Given the description of an element on the screen output the (x, y) to click on. 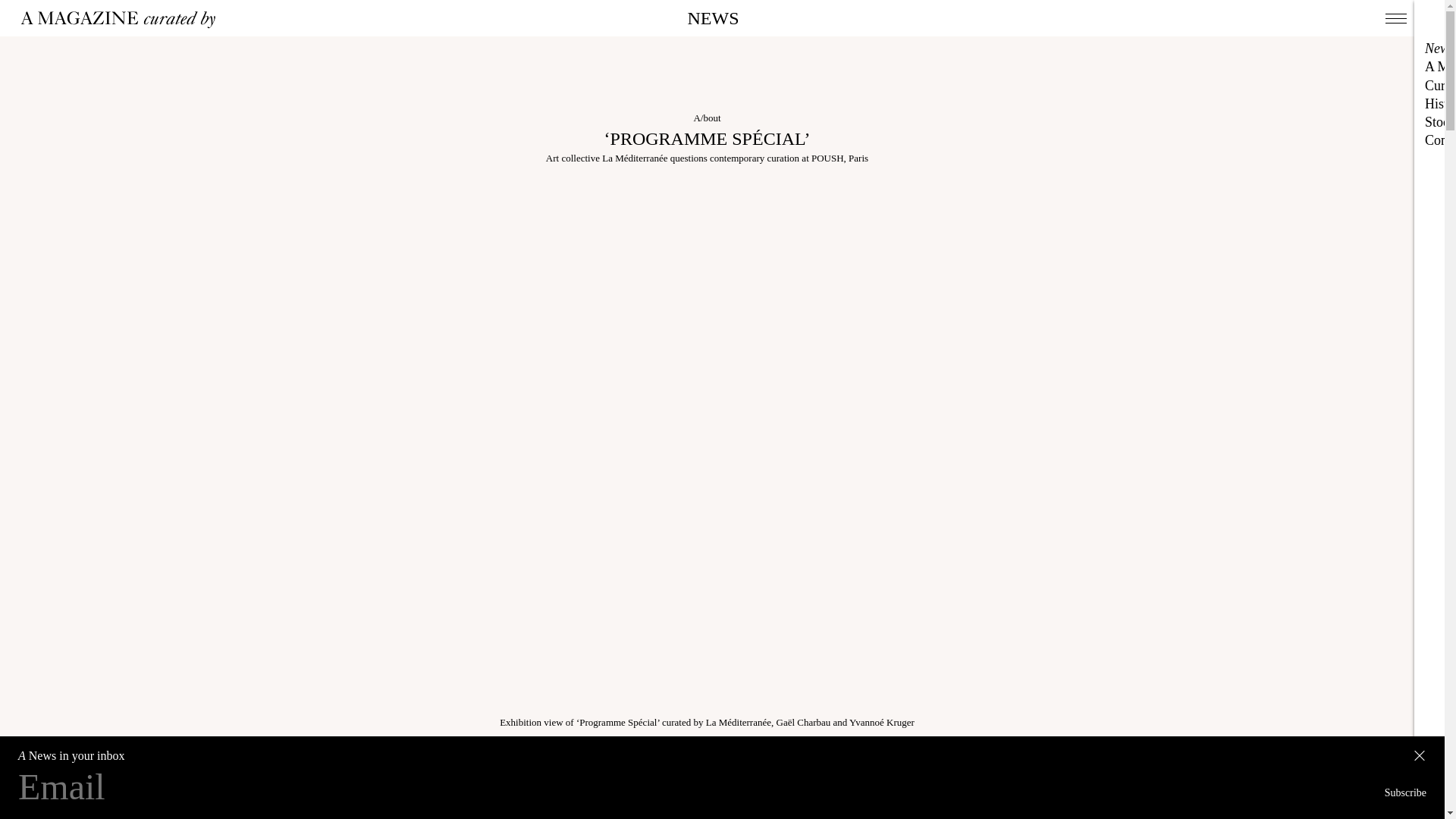
A Magazine Curated by (123, 19)
NEWS (712, 17)
Navigation (1395, 18)
